Given the description of an element on the screen output the (x, y) to click on. 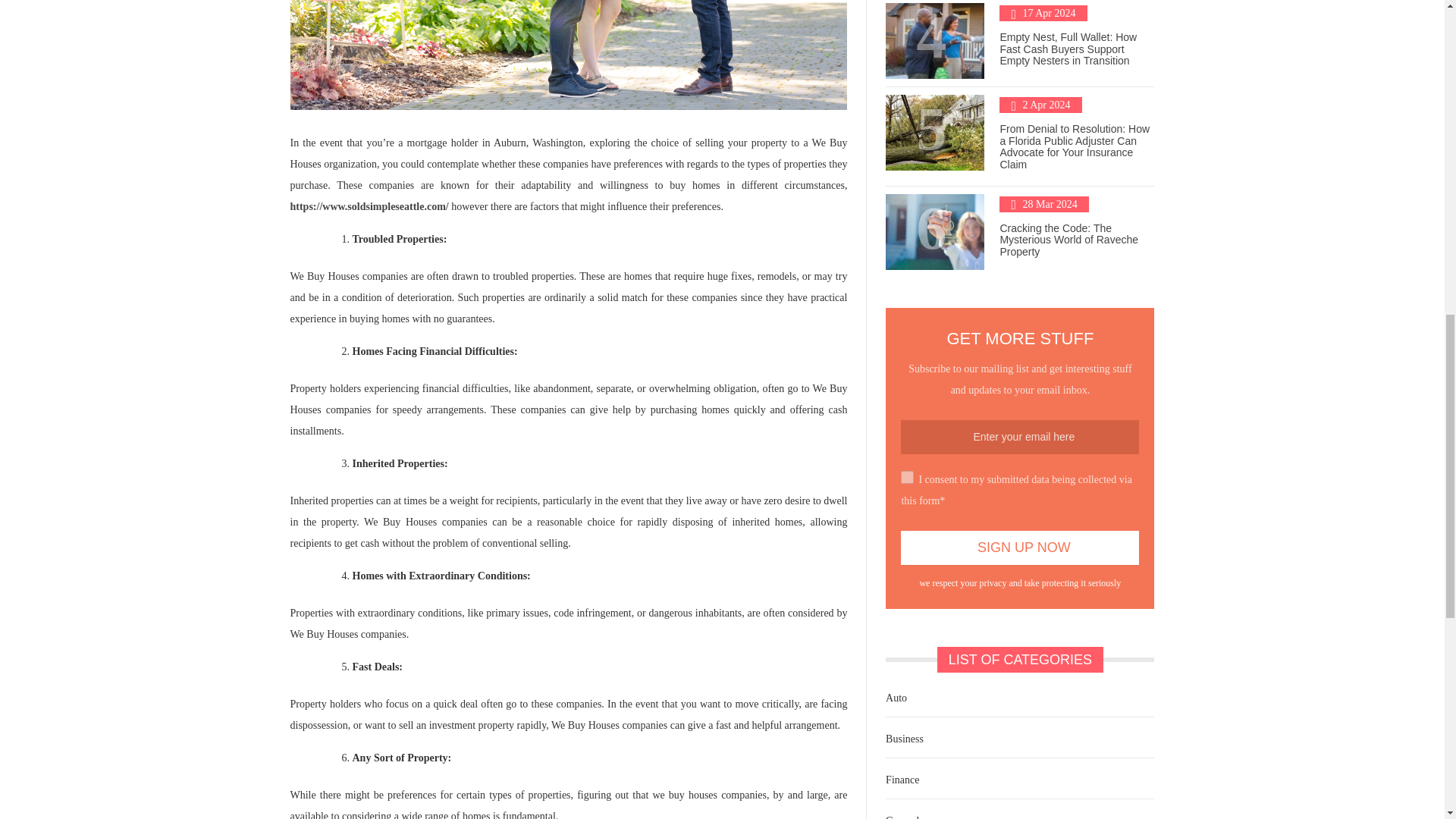
Sign Up Now (1019, 547)
Business (902, 739)
Auto (894, 698)
Cracking the Code: The Mysterious World of Raveche Property (1068, 239)
Sign Up Now (1019, 547)
on (907, 477)
